Given the description of an element on the screen output the (x, y) to click on. 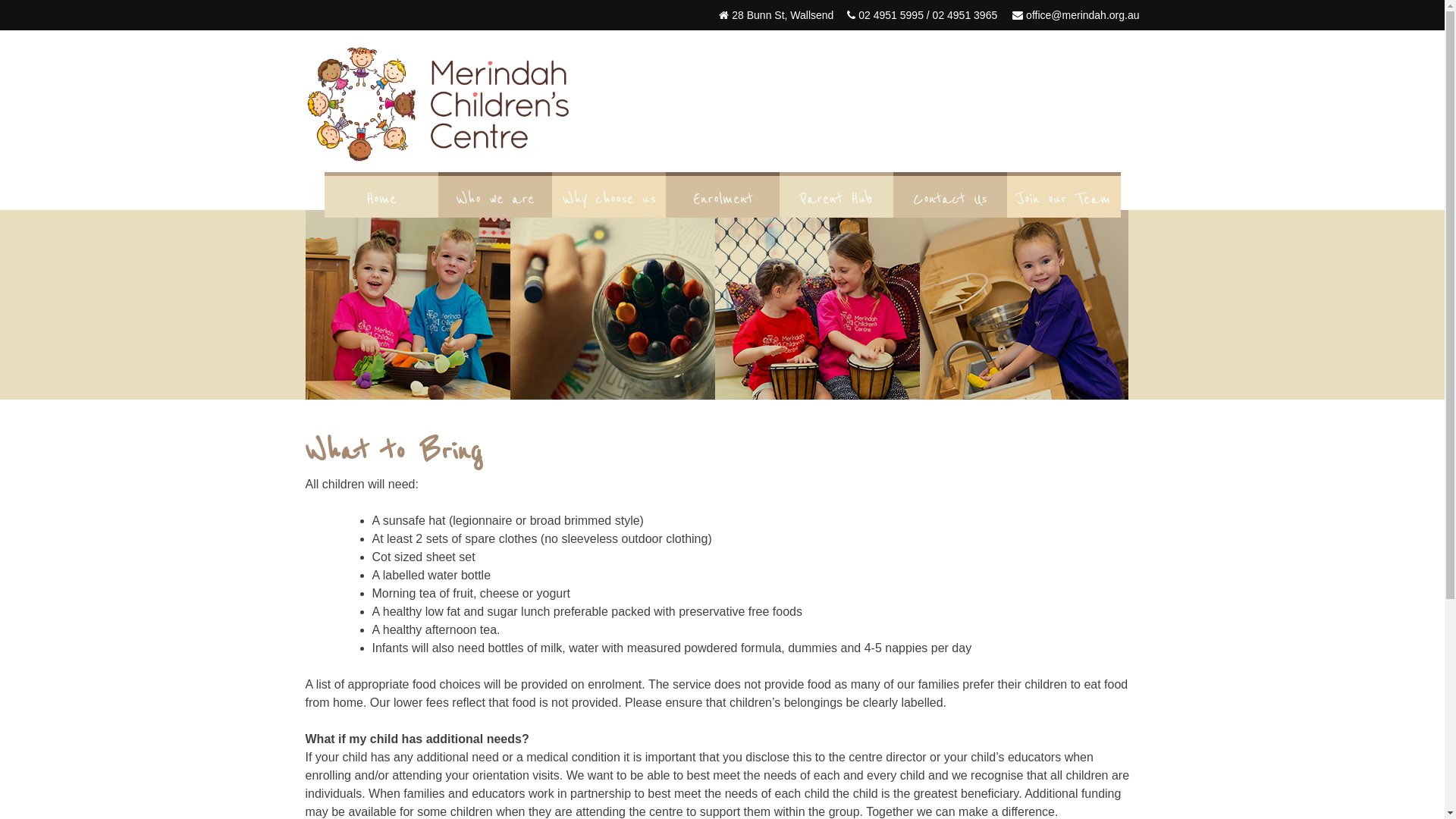
Join our Team Element type: text (1063, 198)
Who we are Element type: text (495, 198)
Why choose us Element type: text (608, 198)
Parent Hub Element type: text (836, 198)
Contact Us Element type: text (950, 198)
Home Element type: text (381, 198)
Enrolment Element type: text (722, 198)
